Given the description of an element on the screen output the (x, y) to click on. 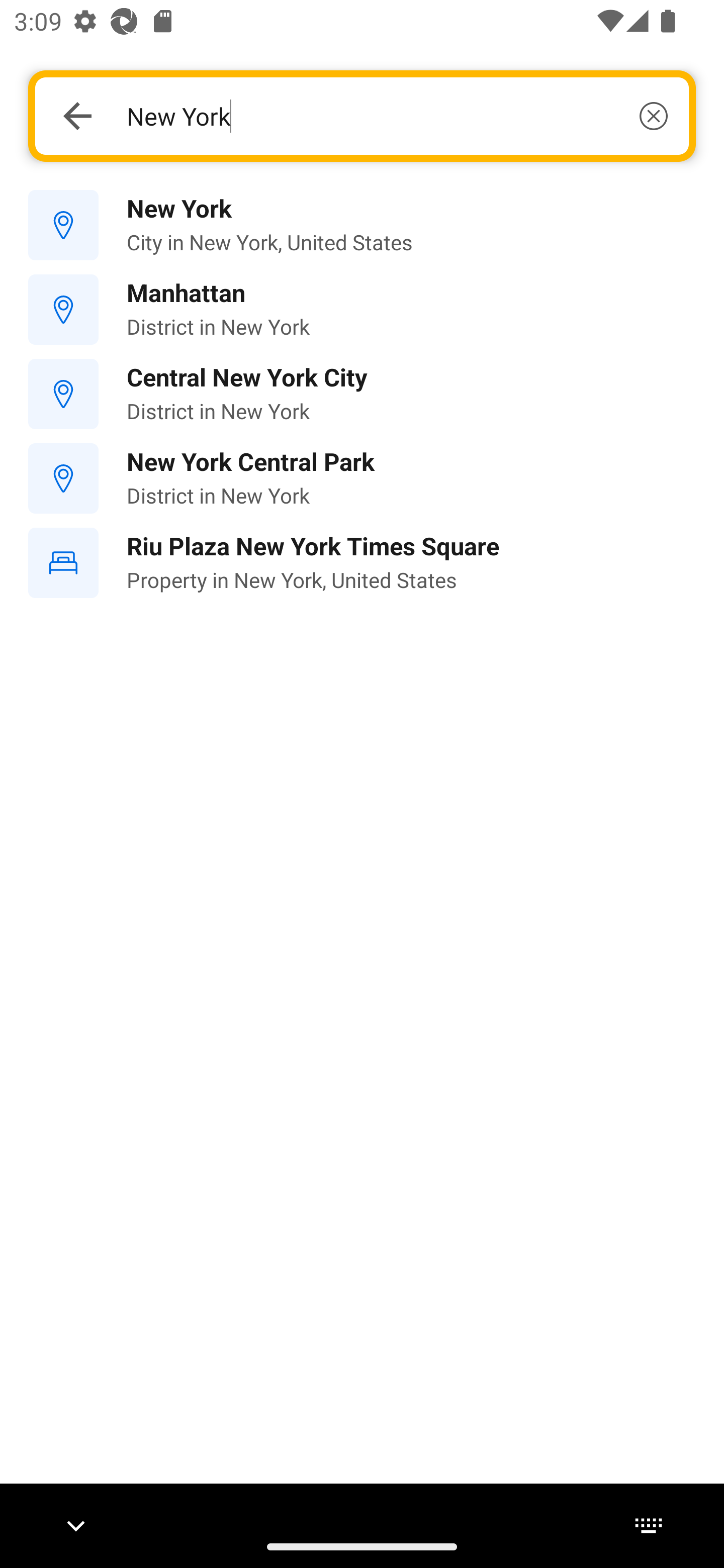
New York (396, 115)
New York City in New York, United States (362, 225)
Manhattan District in New York (362, 309)
Central New York City District in New York (362, 393)
New York Central Park District in New York (362, 477)
